Given the description of an element on the screen output the (x, y) to click on. 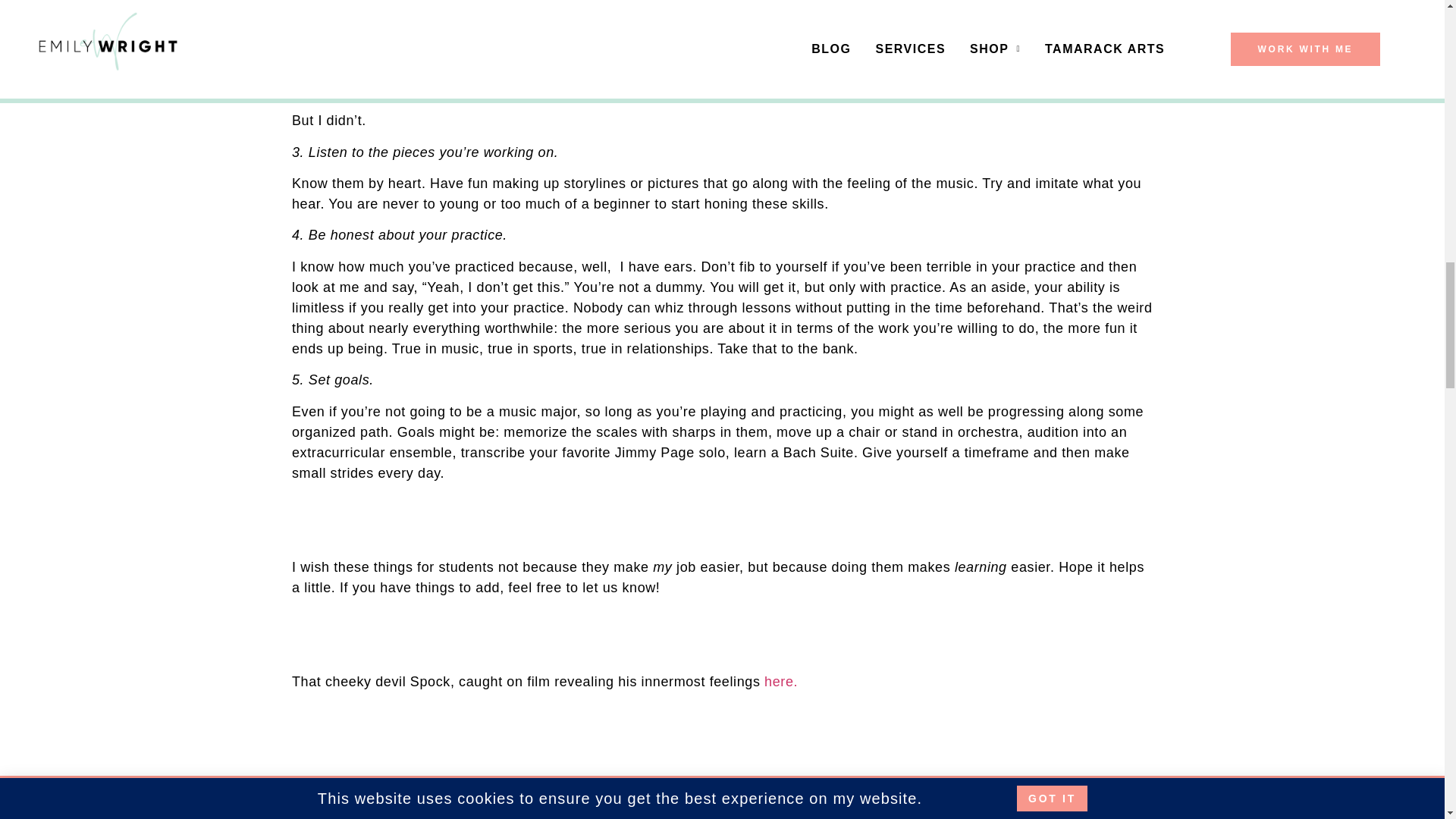
here.  (783, 681)
